Given the description of an element on the screen output the (x, y) to click on. 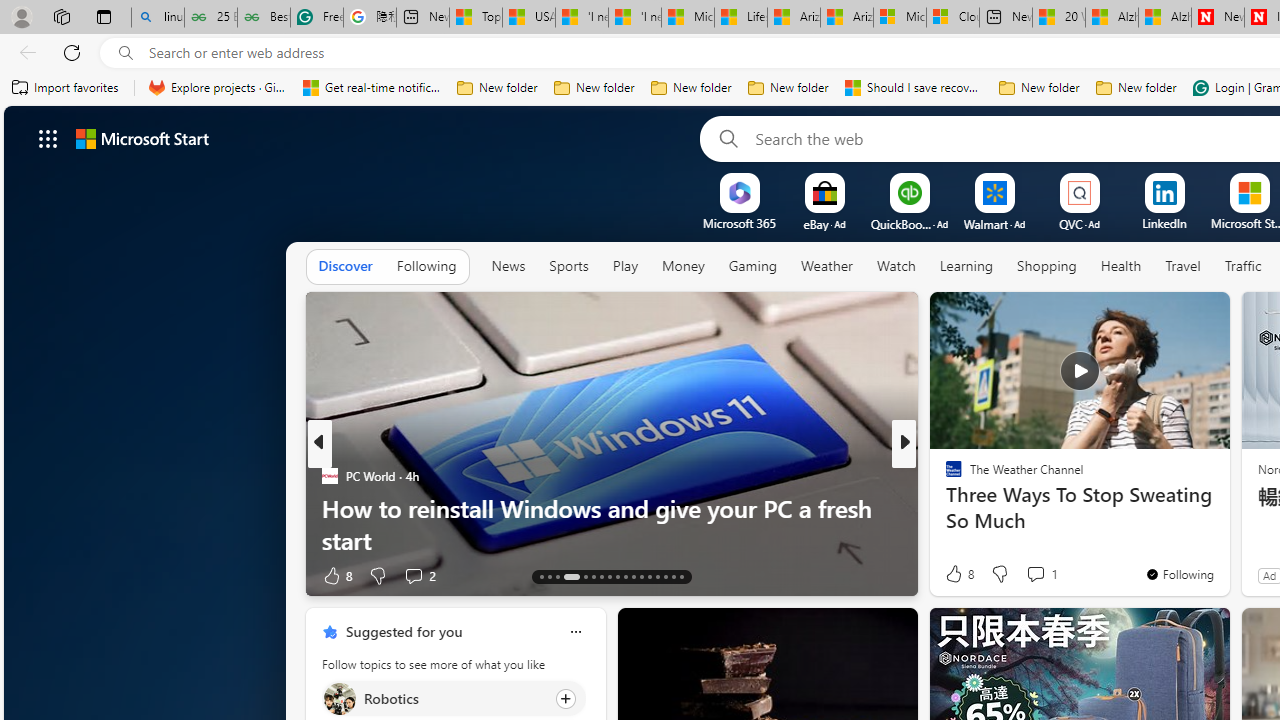
8 Like (957, 574)
Money (682, 265)
Sports (568, 265)
